Given the description of an element on the screen output the (x, y) to click on. 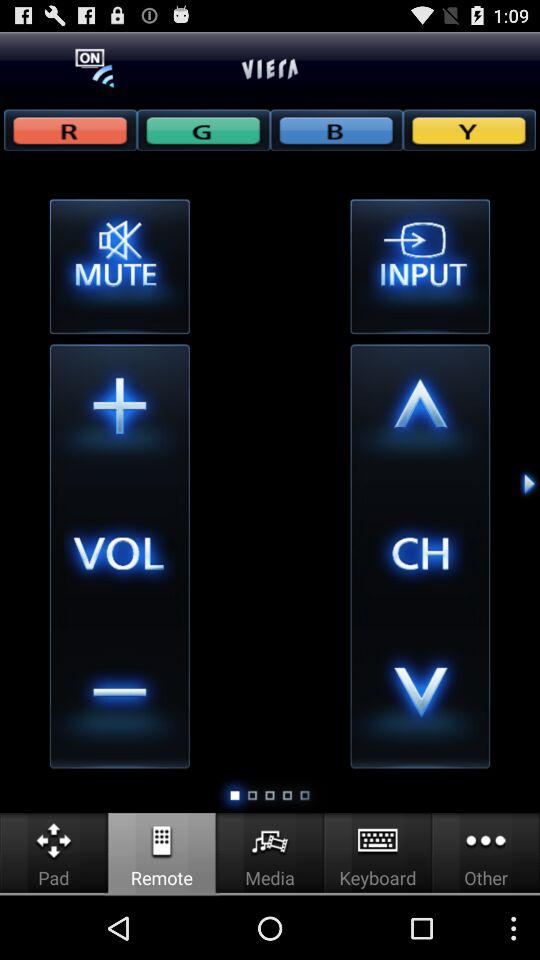
volume down (119, 698)
